Given the description of an element on the screen output the (x, y) to click on. 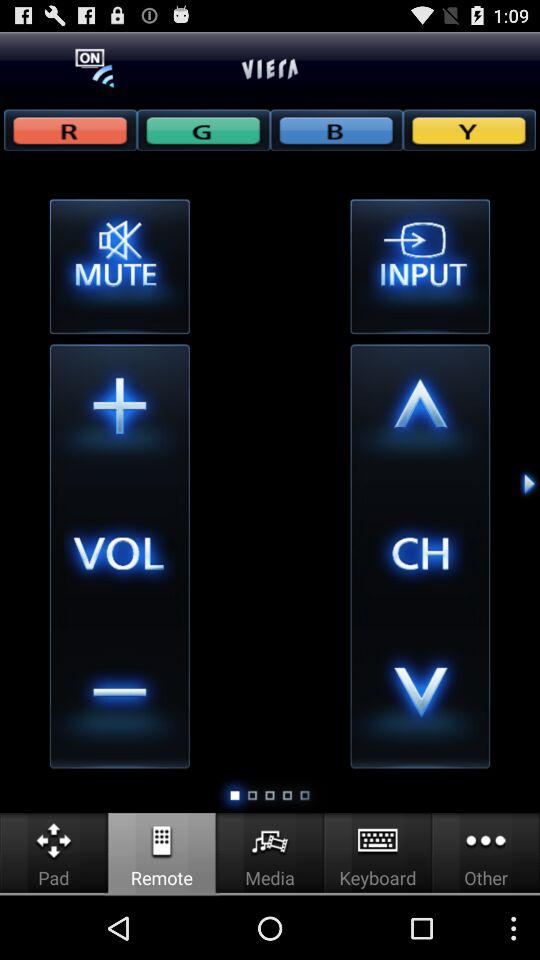
volume down (119, 698)
